Given the description of an element on the screen output the (x, y) to click on. 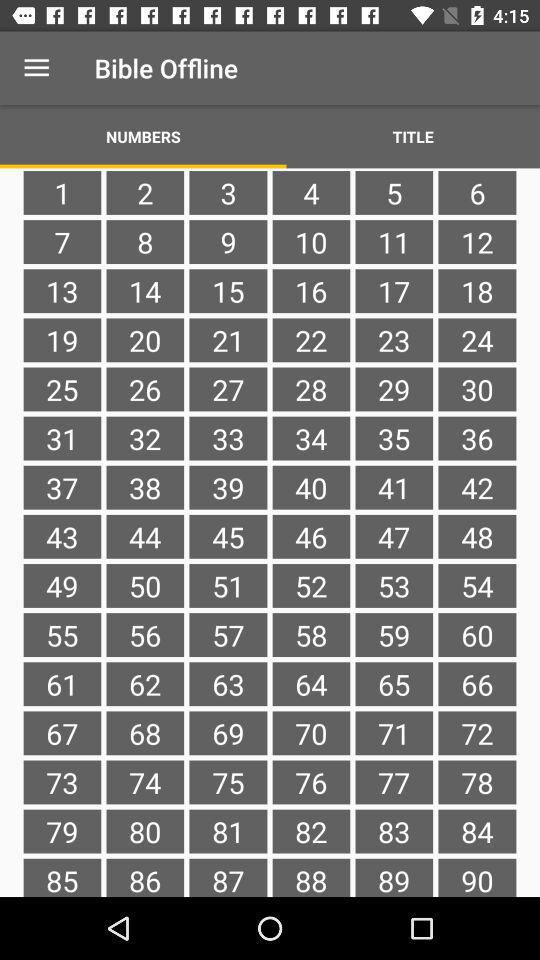
click the item to the right of the 63 (311, 733)
